Given the description of an element on the screen output the (x, y) to click on. 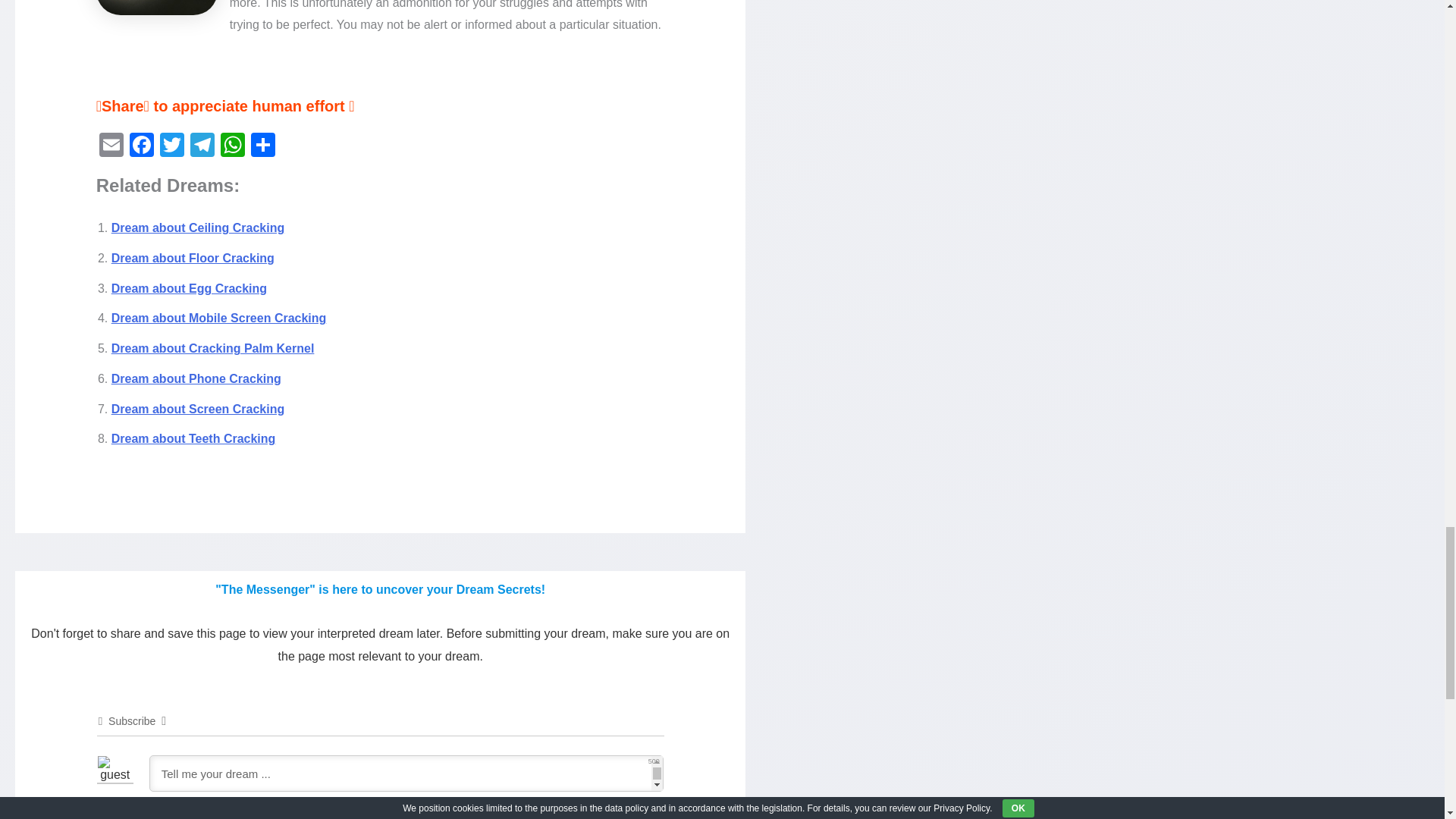
Telegram (201, 146)
Dream about Ceiling Cracking (198, 227)
Twitter (172, 146)
Email (111, 146)
Dream about Floor Cracking (193, 257)
Facebook (141, 146)
Dream about Floor Cracking (193, 257)
Dream about Screen Cracking (198, 408)
Dream about Ceiling Cracking (198, 227)
Email (111, 146)
Facebook (141, 146)
Dream about Cracking Palm Kernel (213, 348)
Dream about Mobile Screen Cracking (219, 318)
Twitter (172, 146)
Dream about Screen Cracking (198, 408)
